Given the description of an element on the screen output the (x, y) to click on. 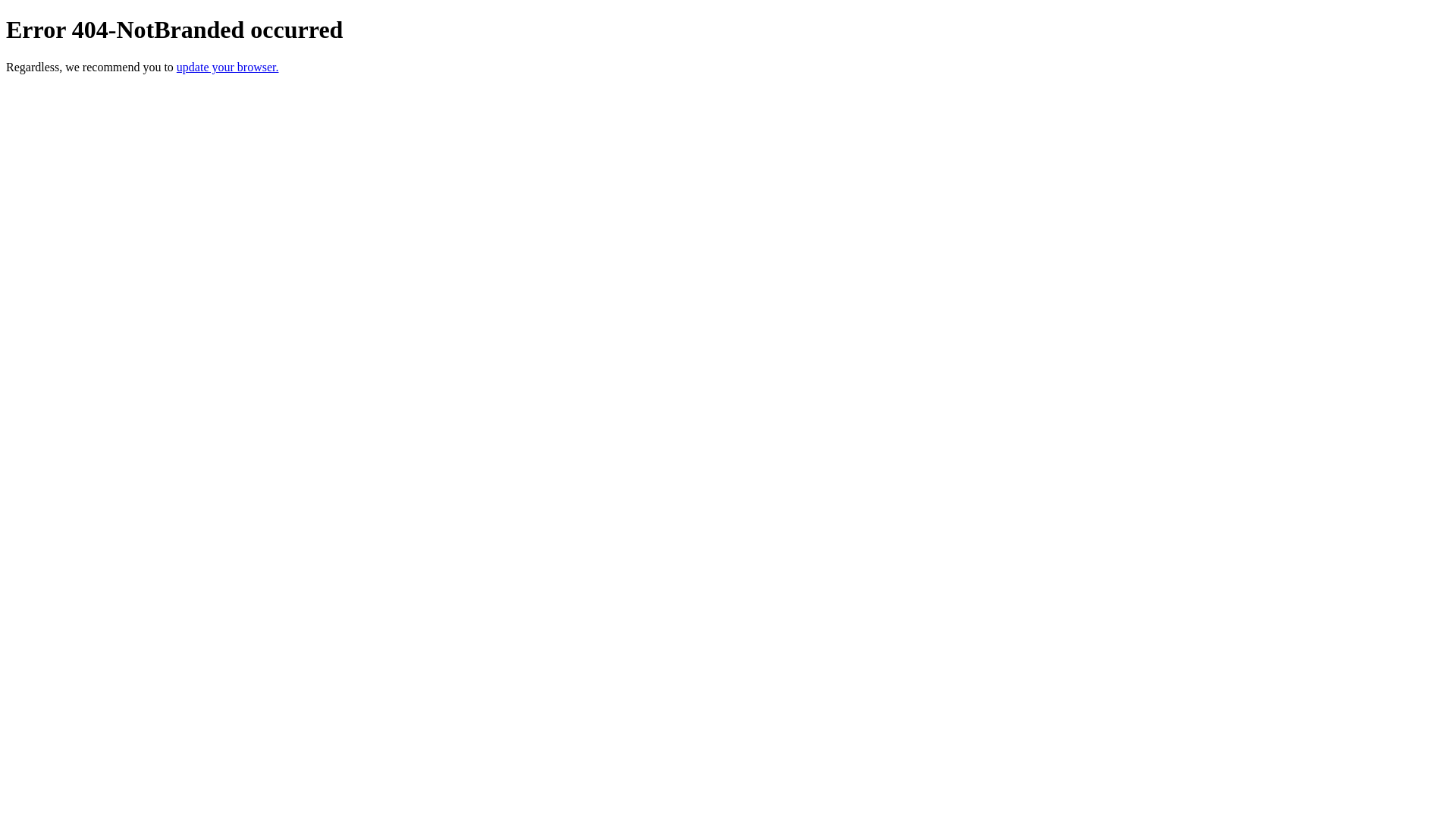
update your browser. Element type: text (227, 66)
